Given the description of an element on the screen output the (x, y) to click on. 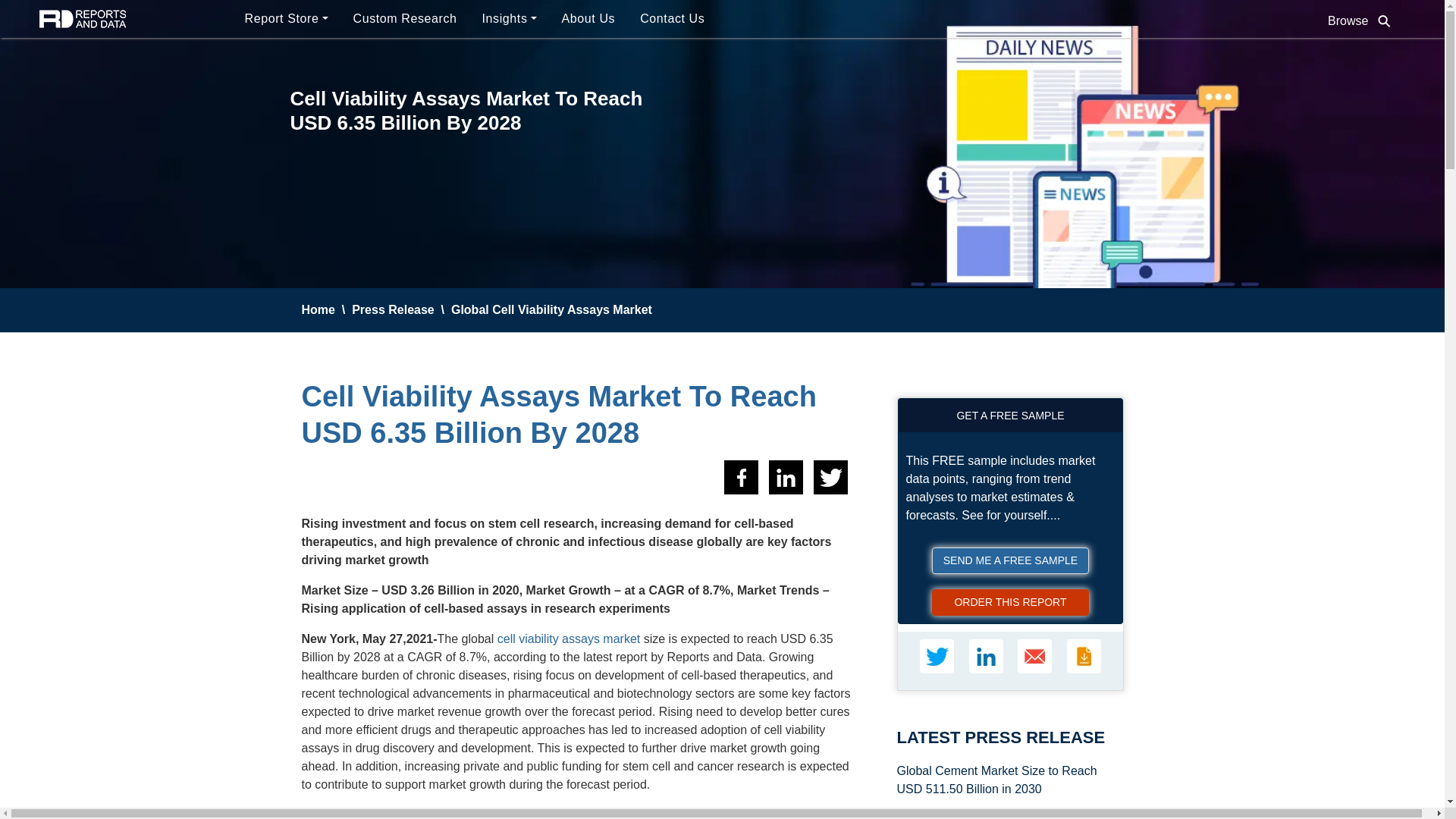
Report Store (288, 19)
Press Release (392, 309)
Custom Research (408, 19)
Share by Email (1034, 656)
Home (317, 309)
cell viability assays market (568, 638)
Insights (512, 19)
About Us (591, 19)
Contact Us (675, 19)
SEND ME A FREE SAMPLE (1010, 560)
ORDER THIS REPORT (1010, 601)
